Given the description of an element on the screen output the (x, y) to click on. 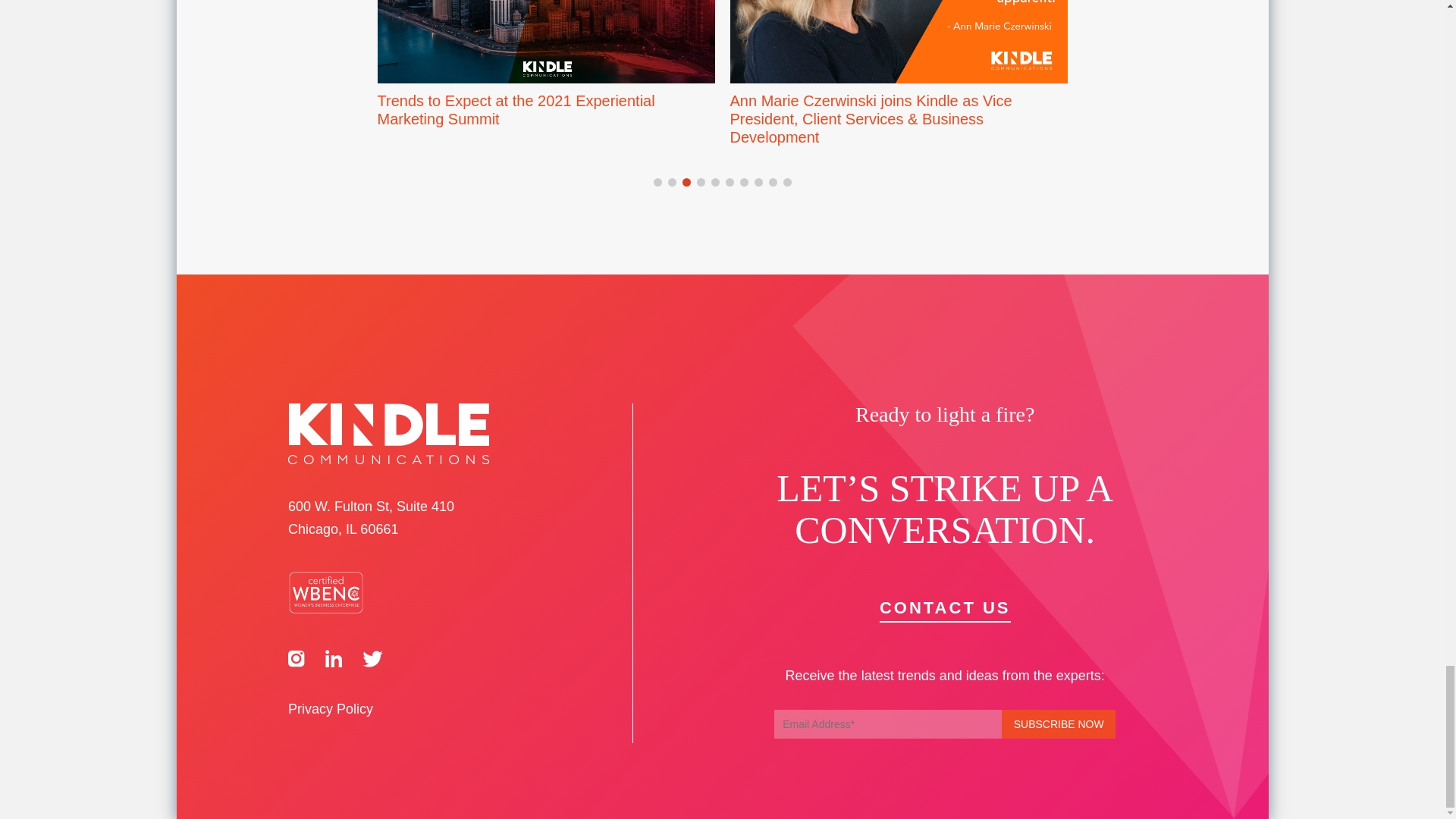
SUBSCRIBE NOW (1058, 724)
